Given the description of an element on the screen output the (x, y) to click on. 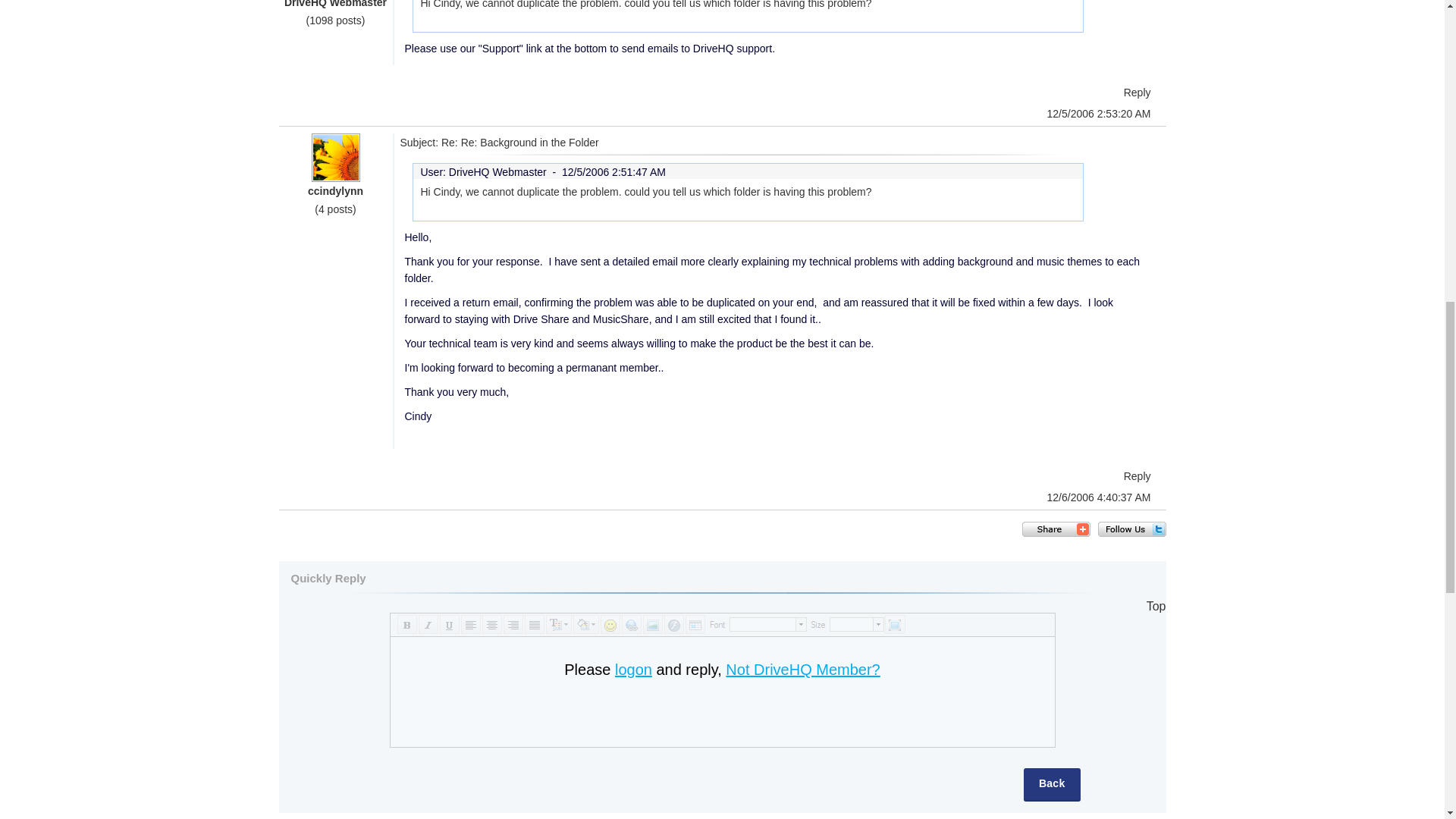
Back (1051, 784)
